Given the description of an element on the screen output the (x, y) to click on. 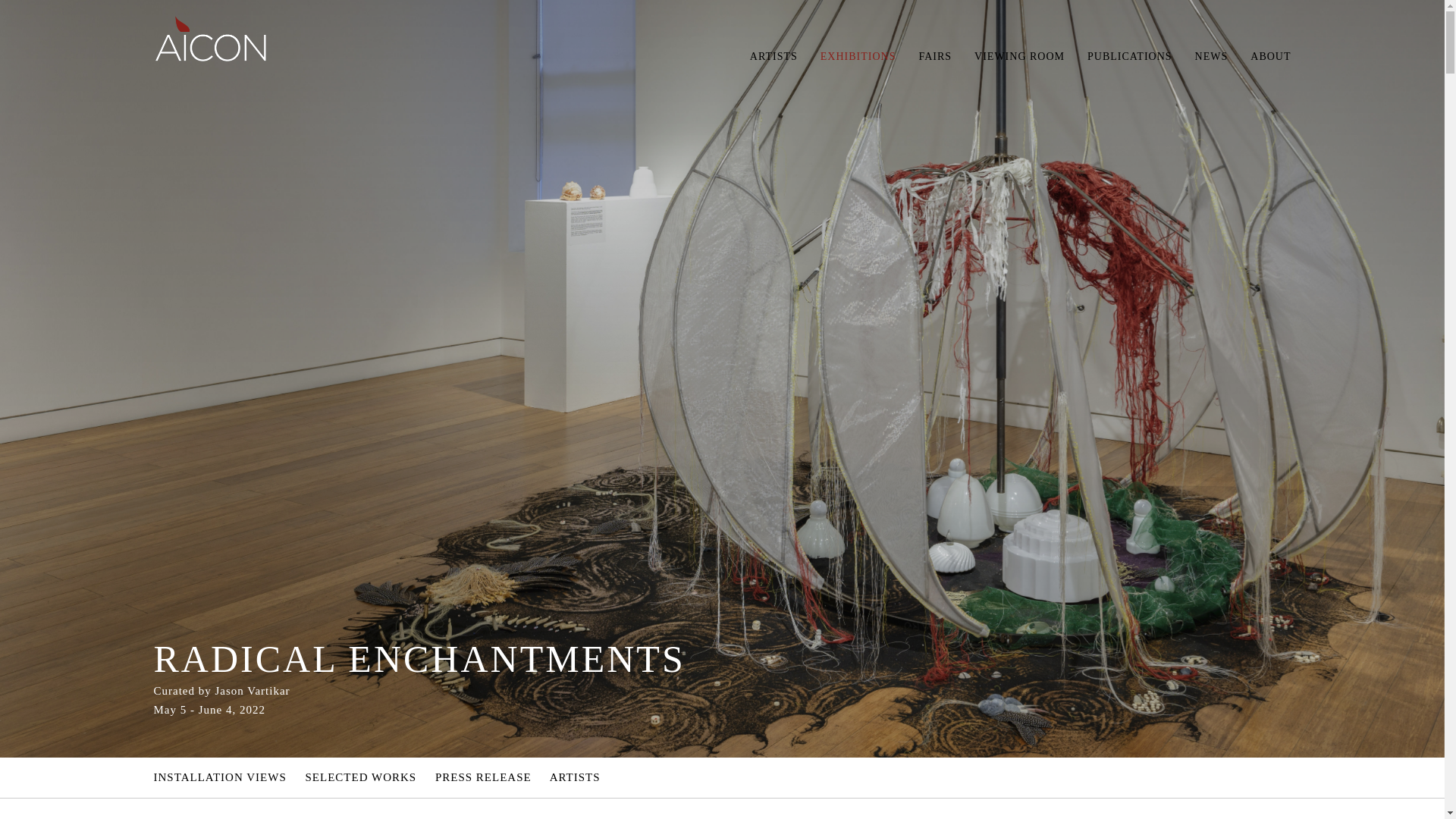
INSTALLATION VIEWS (218, 776)
ABOUT (1270, 56)
PUBLICATIONS (1129, 56)
FAIRS (935, 56)
ARTISTS (773, 56)
SELECTED WORKS (360, 776)
VIEWING ROOM (1019, 56)
EXHIBITIONS (858, 56)
NEWS (1211, 56)
ARTISTS (574, 776)
PRESS RELEASE (483, 776)
